Given the description of an element on the screen output the (x, y) to click on. 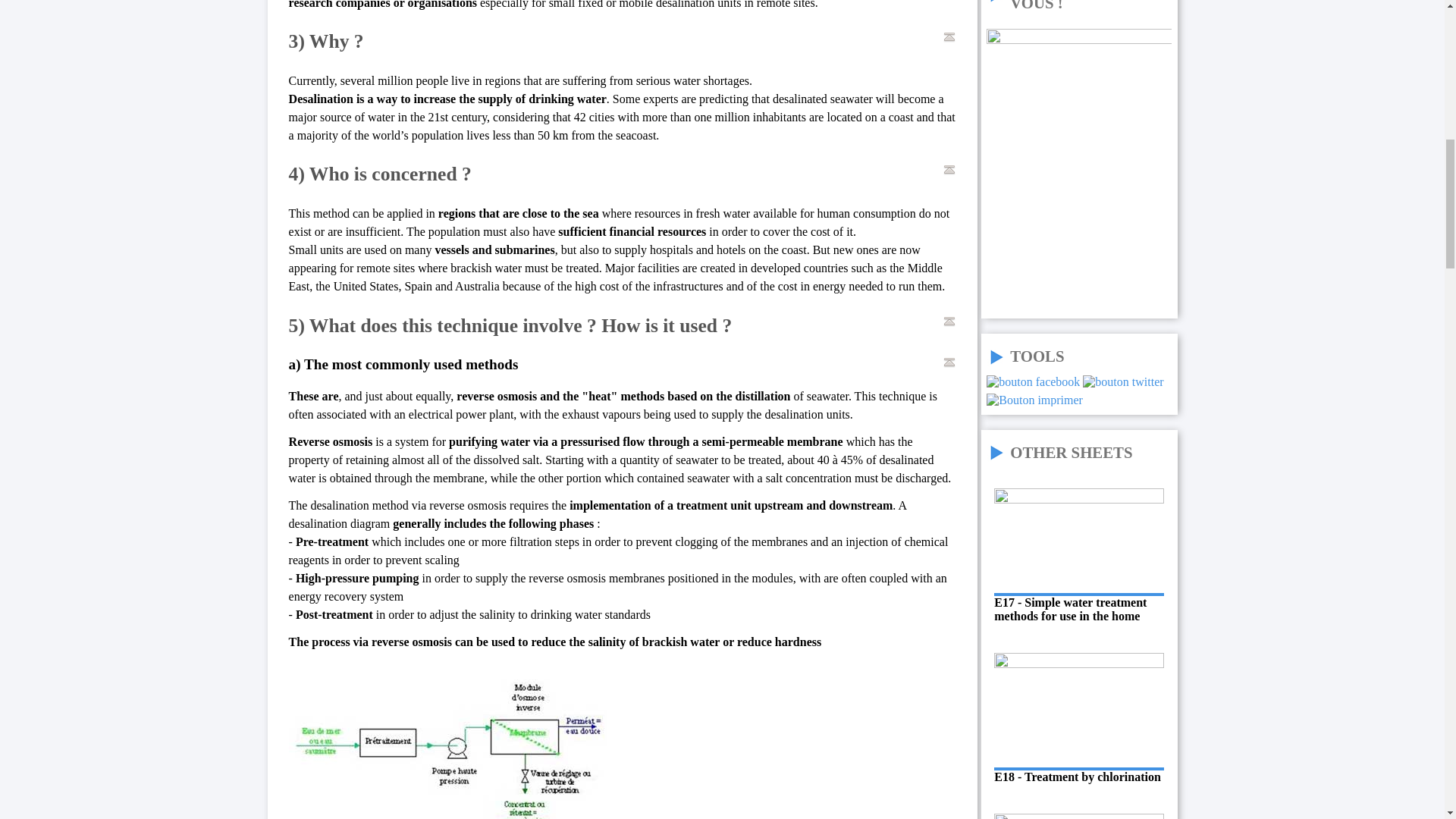
Back to the table of contents (949, 362)
Back to the table of contents (949, 37)
Back to the table of contents (949, 169)
Back to the table of contents (949, 321)
